Given the description of an element on the screen output the (x, y) to click on. 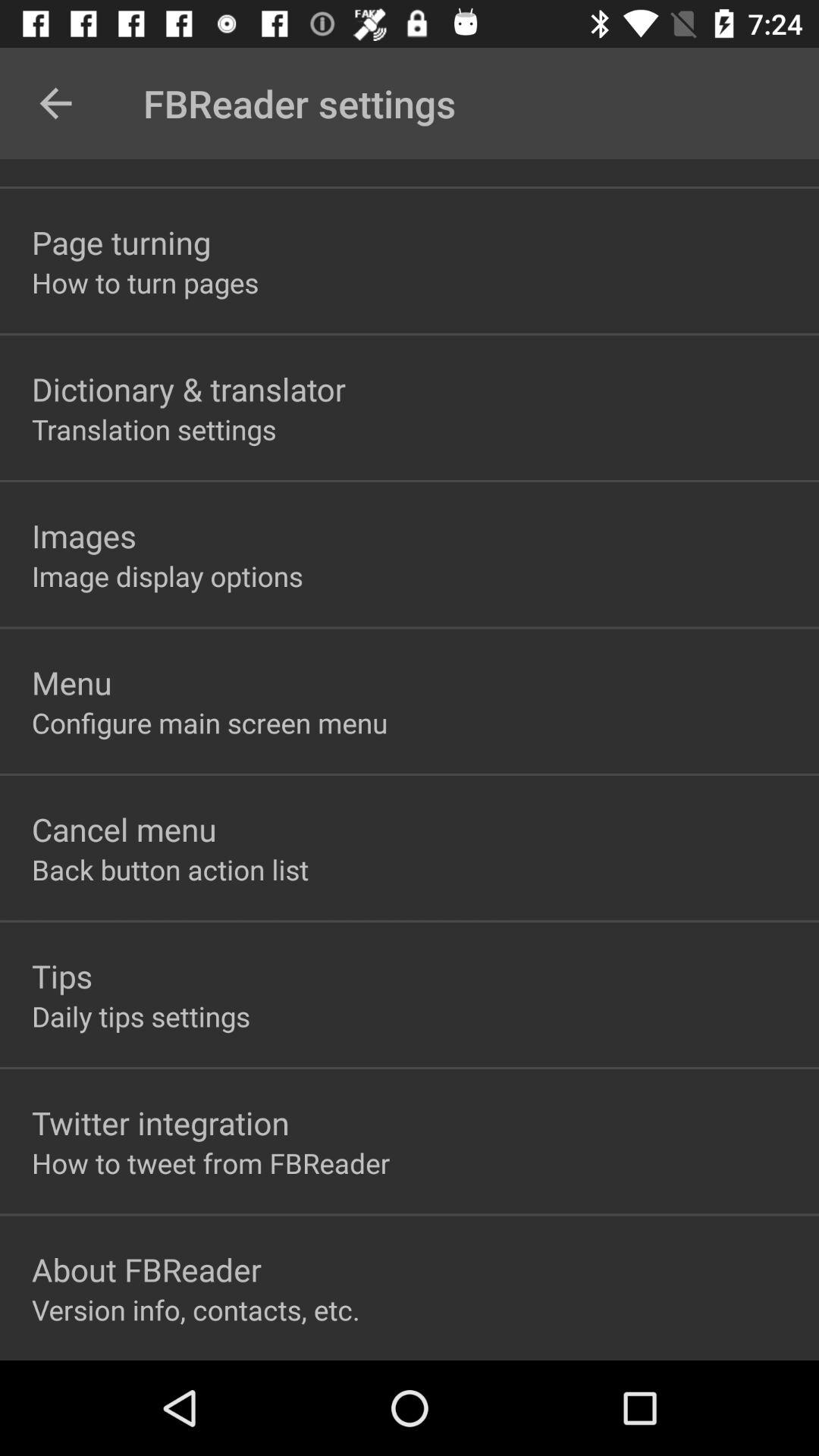
open the icon below the cancel menu (169, 869)
